Given the description of an element on the screen output the (x, y) to click on. 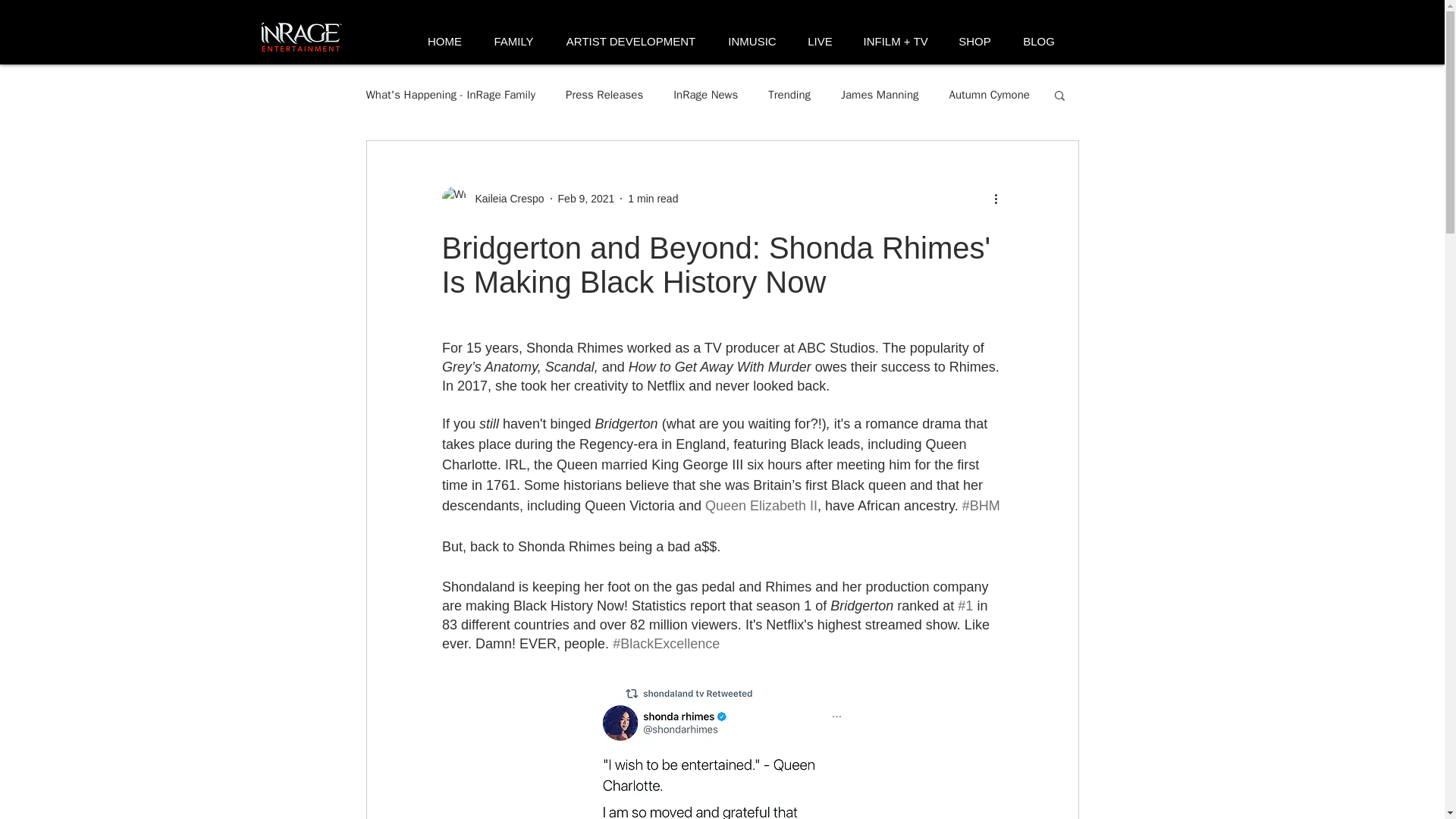
Kaileia Crespo (504, 198)
HOME (443, 41)
Kaileia Crespo (492, 198)
Autumn Cymone (989, 94)
What's Happening - InRage Family (450, 94)
SHOP (975, 41)
Feb 9, 2021 (585, 198)
Press Releases (604, 94)
InRage News (705, 94)
LIVE (819, 41)
Logo Netative Ent JPG.jpg (301, 37)
James Manning (879, 94)
ARTIST DEVELOPMENT (629, 41)
Trending (789, 94)
BLOG (1039, 41)
